Given the description of an element on the screen output the (x, y) to click on. 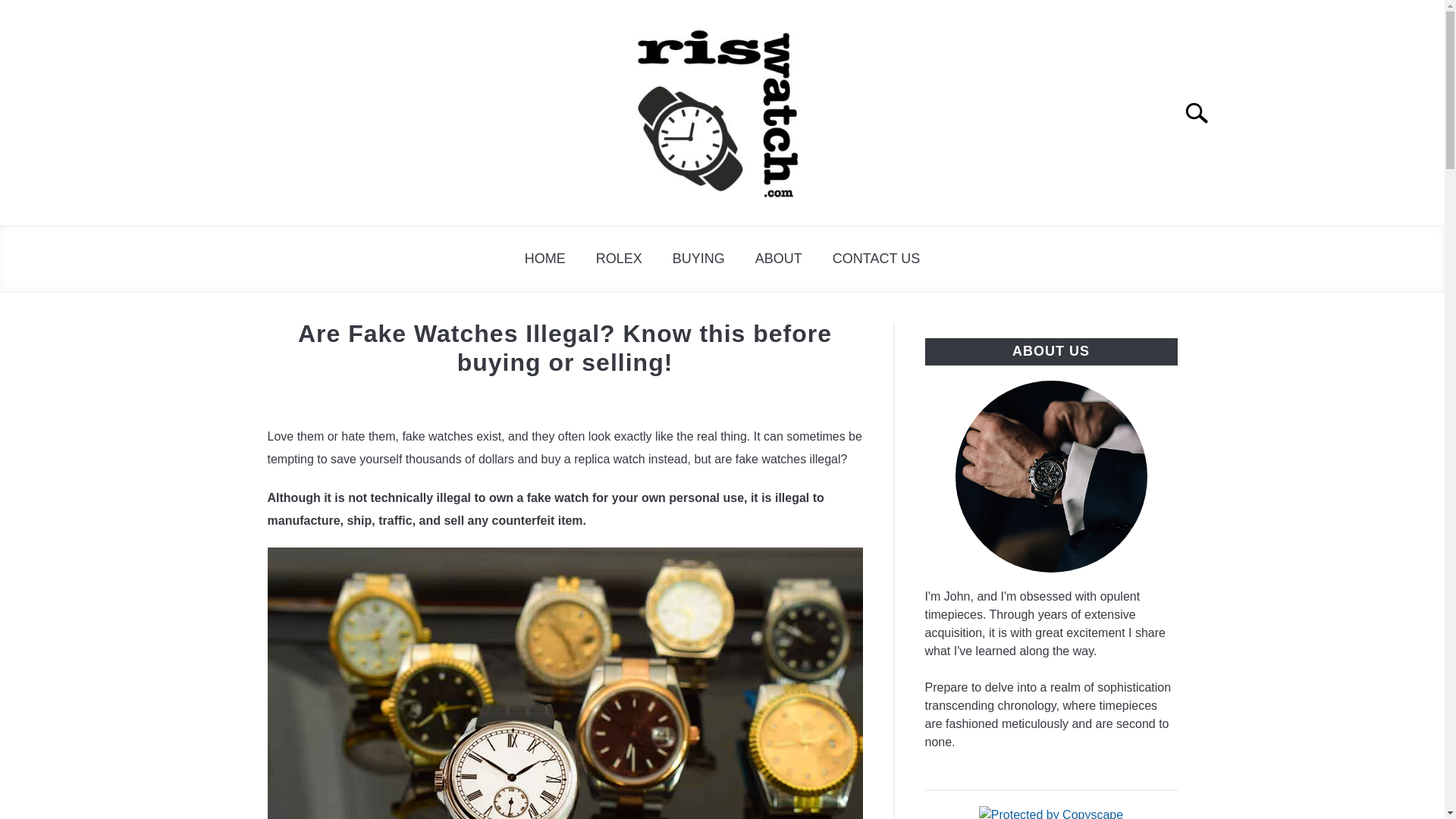
ABOUT (777, 258)
BUYING (698, 258)
CONTACT US (875, 258)
Protected by Copyscape - Do not copy content from this page. (1050, 812)
HOME (544, 258)
ROLEX (619, 258)
Search (1203, 112)
